Given the description of an element on the screen output the (x, y) to click on. 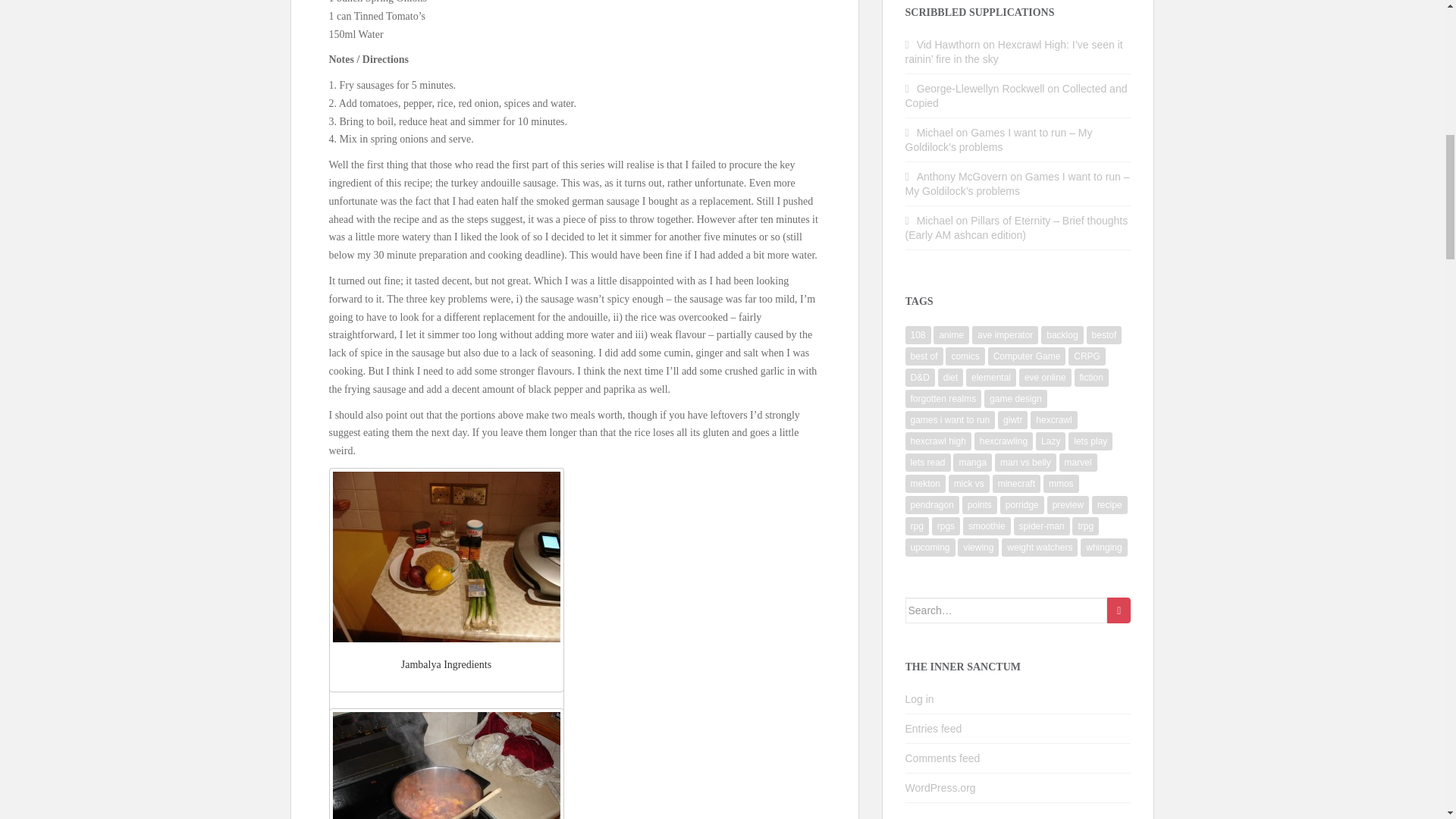
Jambalaya Ingredients (445, 556)
Search for: (1006, 610)
Collected and Copied (1015, 95)
Michael (935, 132)
Jambalaya Cooking (445, 765)
Michael (935, 220)
George-Llewellyn Rockwell (981, 88)
